Given the description of an element on the screen output the (x, y) to click on. 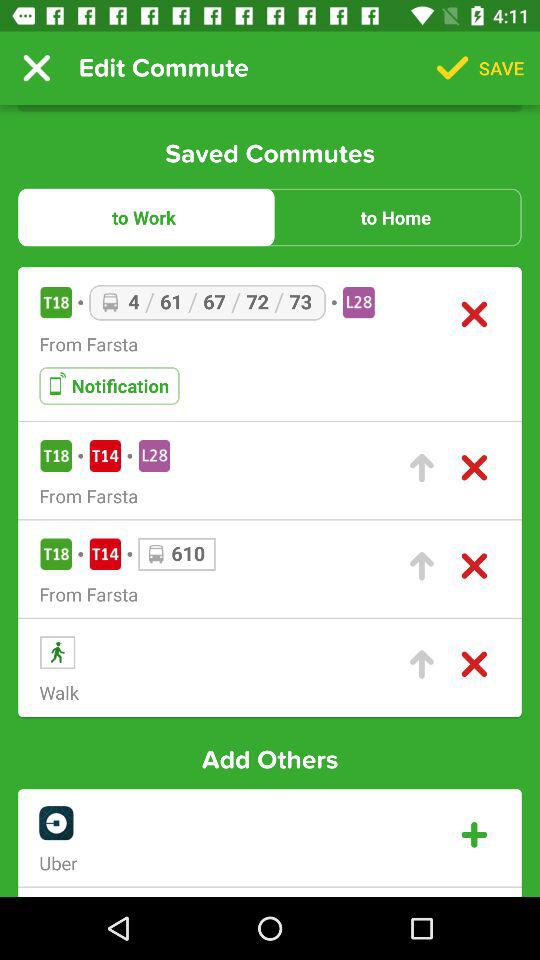
delete the commute (474, 314)
